Given the description of an element on the screen output the (x, y) to click on. 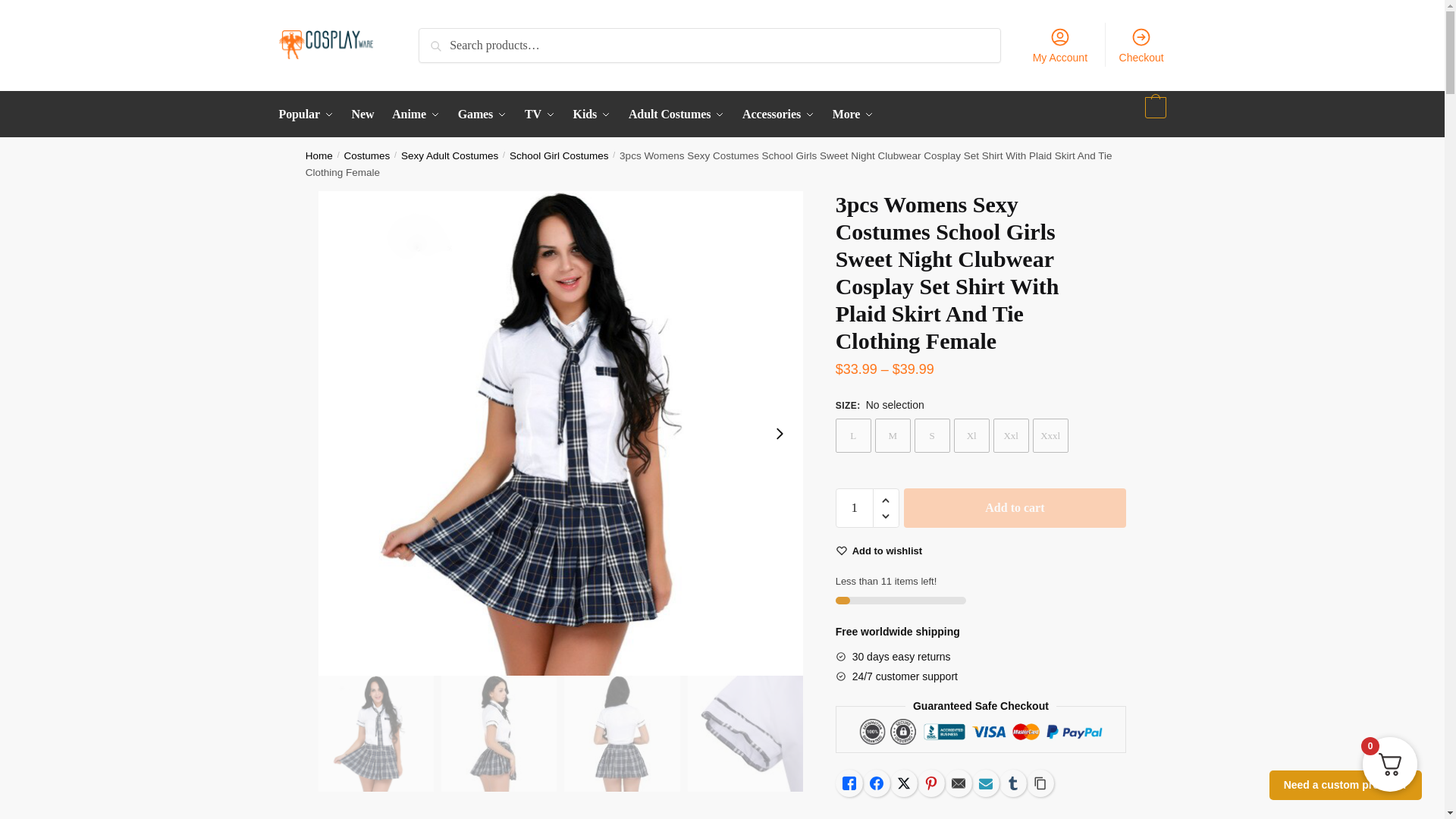
My Account (1059, 44)
Checkout (1141, 44)
Popular (309, 114)
Anime (415, 114)
Search (443, 40)
1 (854, 507)
